Given the description of an element on the screen output the (x, y) to click on. 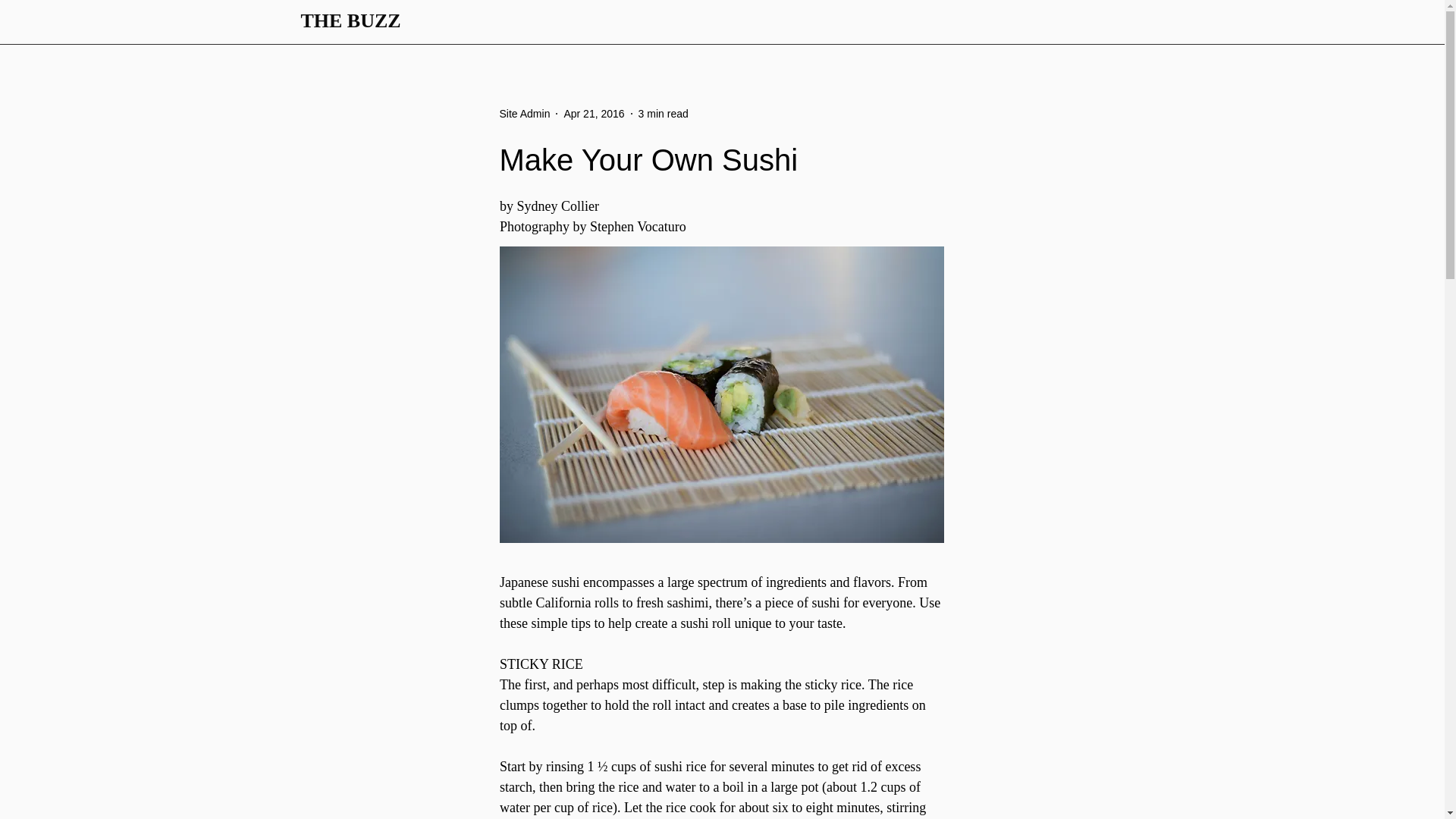
Site Admin (524, 114)
Site Admin (524, 114)
THE BUZZ (350, 20)
3 min read (663, 113)
Apr 21, 2016 (593, 113)
